Given the description of an element on the screen output the (x, y) to click on. 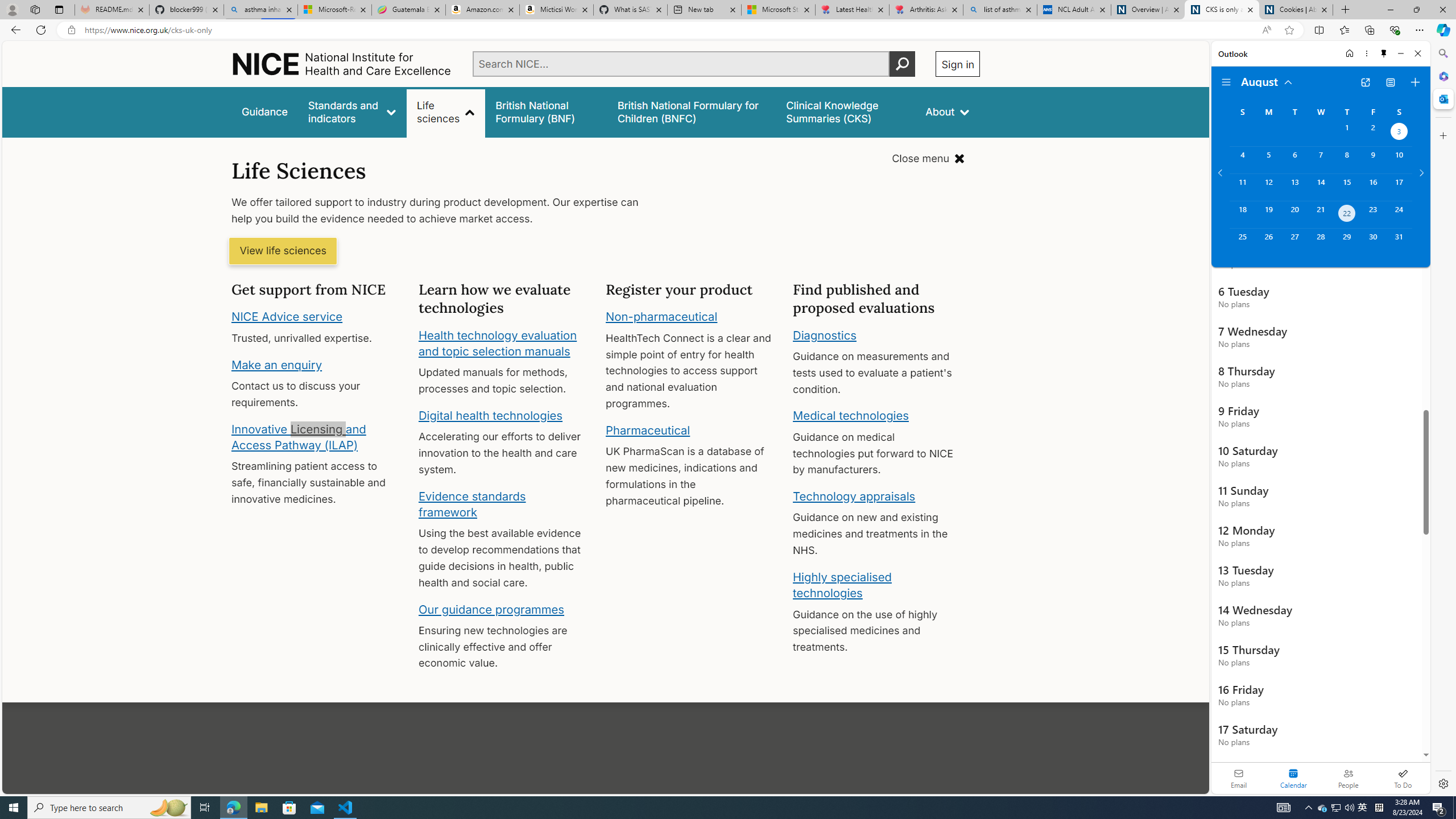
Tuesday, August 6, 2024.  (1294, 159)
Friday, August 2, 2024.  (1372, 132)
Monday, August 19, 2024.  (1268, 214)
Wednesday, August 21, 2024.  (1320, 214)
Monday, August 26, 2024.  (1268, 241)
To Do (1402, 777)
Monday, August 5, 2024.  (1268, 159)
Saturday, August 24, 2024.  (1399, 214)
Tuesday, August 27, 2024.  (1294, 241)
